Given the description of an element on the screen output the (x, y) to click on. 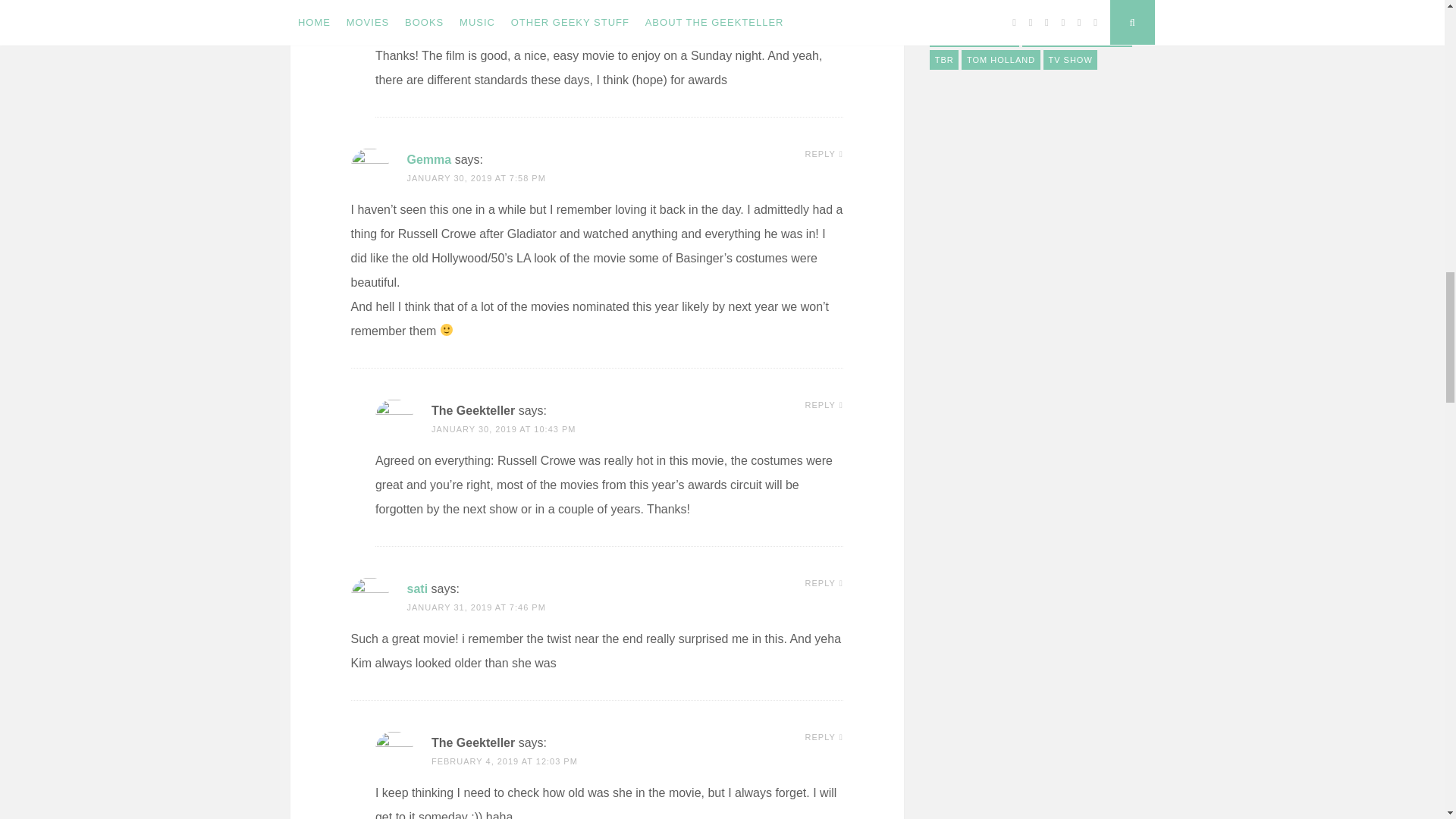
Gemma (428, 159)
JANUARY 29, 2019 AT 4:24 PM (500, 23)
JANUARY 30, 2019 AT 7:58 PM (475, 177)
REPLY (824, 2)
